Given the description of an element on the screen output the (x, y) to click on. 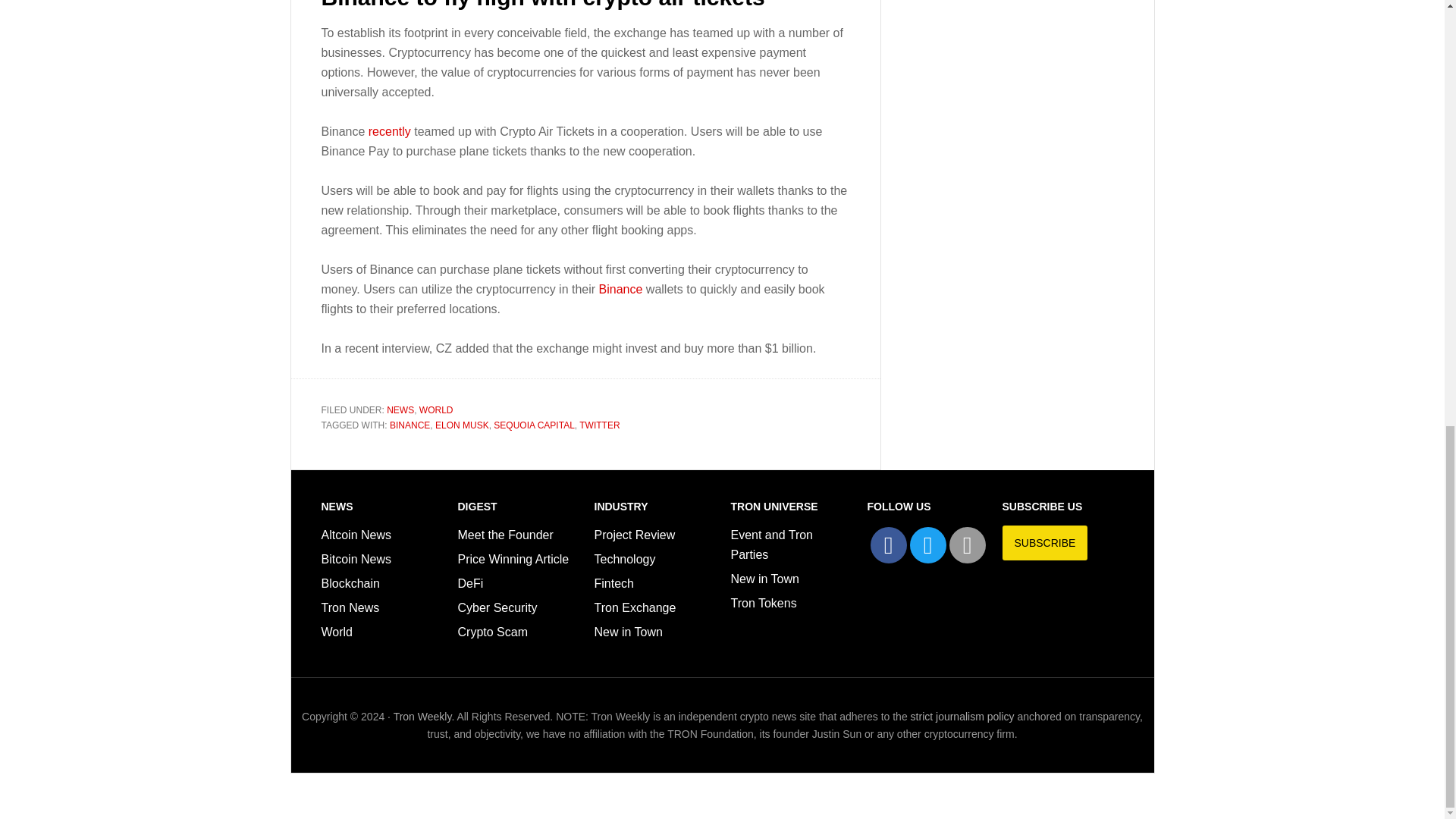
SEQUOIA CAPITAL (533, 425)
Facebook (888, 545)
BINANCE (409, 425)
TWITTER (599, 425)
Telegram (967, 545)
Twitter (928, 545)
Binance (620, 288)
NEWS (400, 409)
recently (389, 131)
ELON MUSK (462, 425)
